Given the description of an element on the screen output the (x, y) to click on. 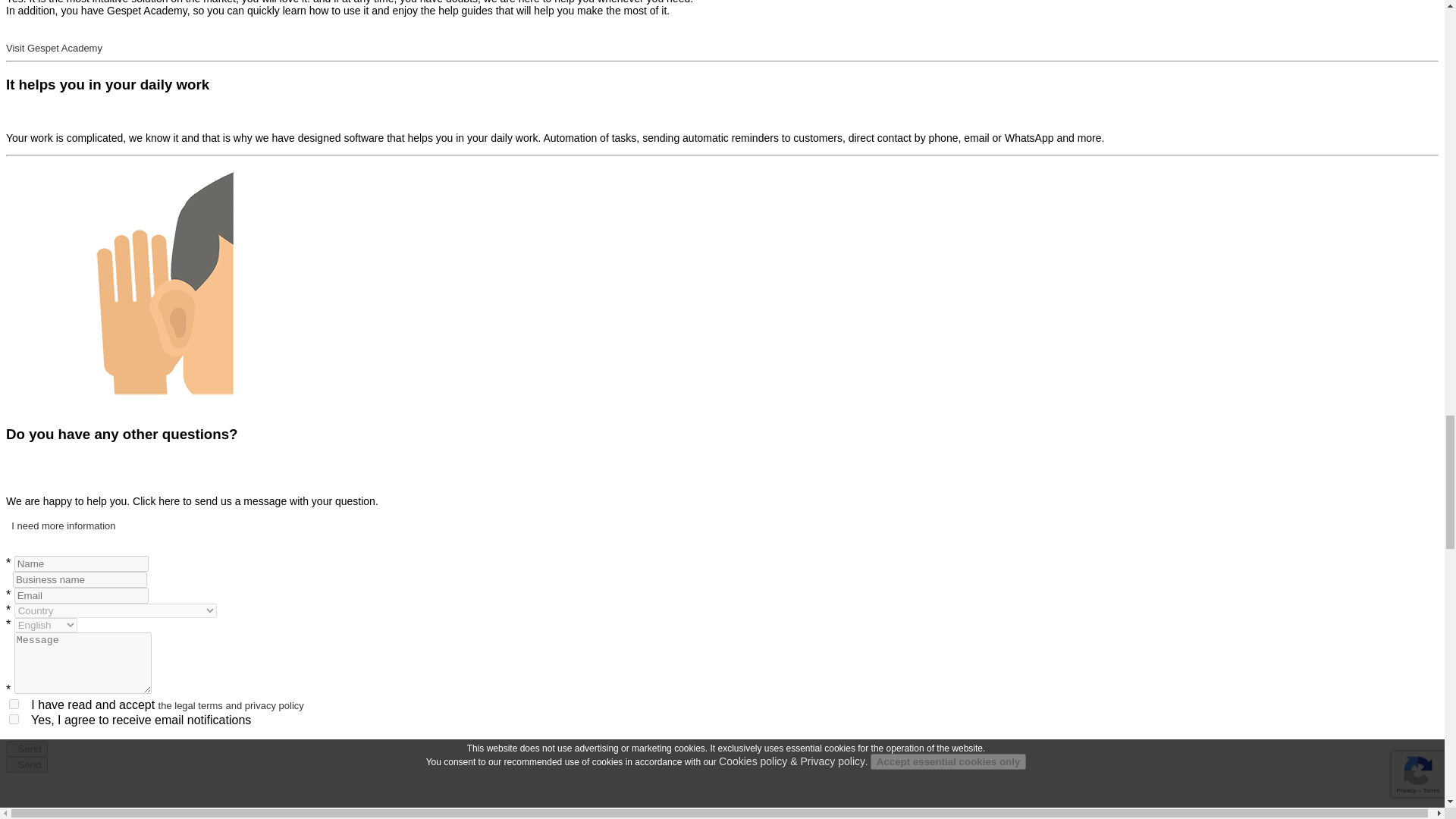
on (13, 718)
on (13, 704)
